Given the description of an element on the screen output the (x, y) to click on. 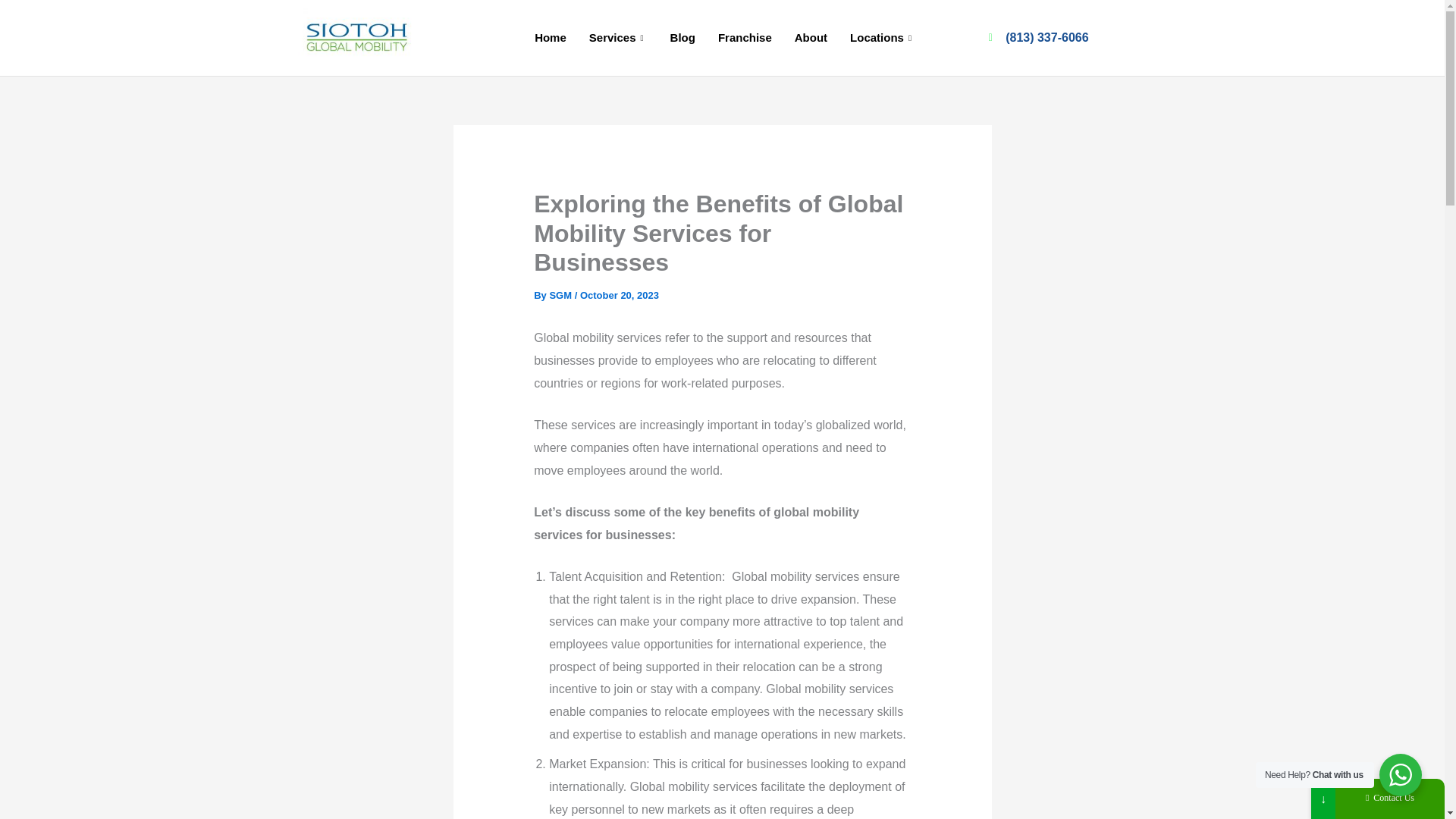
About (810, 37)
Franchise (744, 37)
Locations (882, 37)
Services (618, 37)
View all posts by SGM (560, 295)
Home (550, 37)
